Given the description of an element on the screen output the (x, y) to click on. 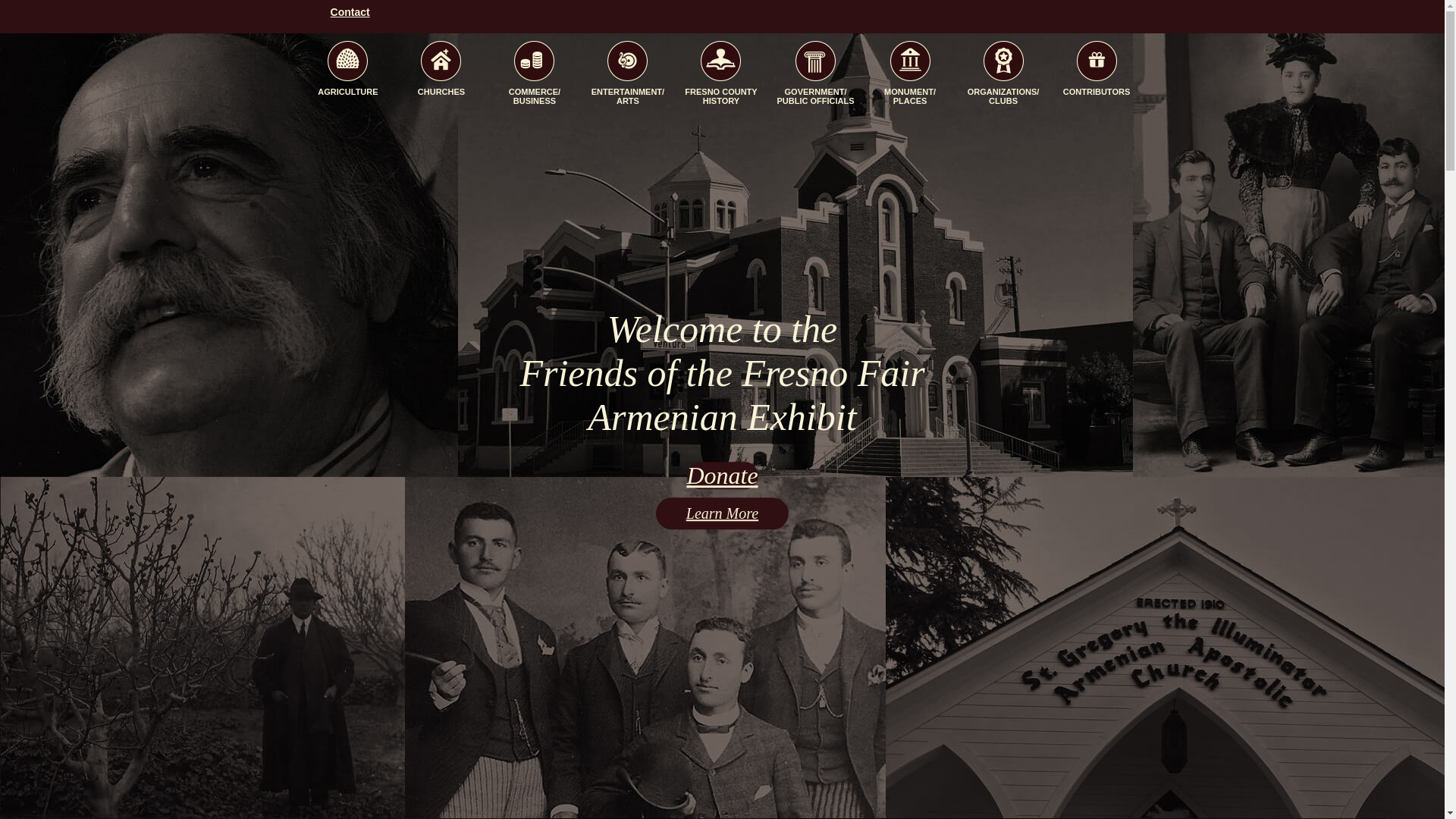
CHURCHES (440, 75)
Contact (349, 11)
AGRICULTURE (347, 75)
